Given the description of an element on the screen output the (x, y) to click on. 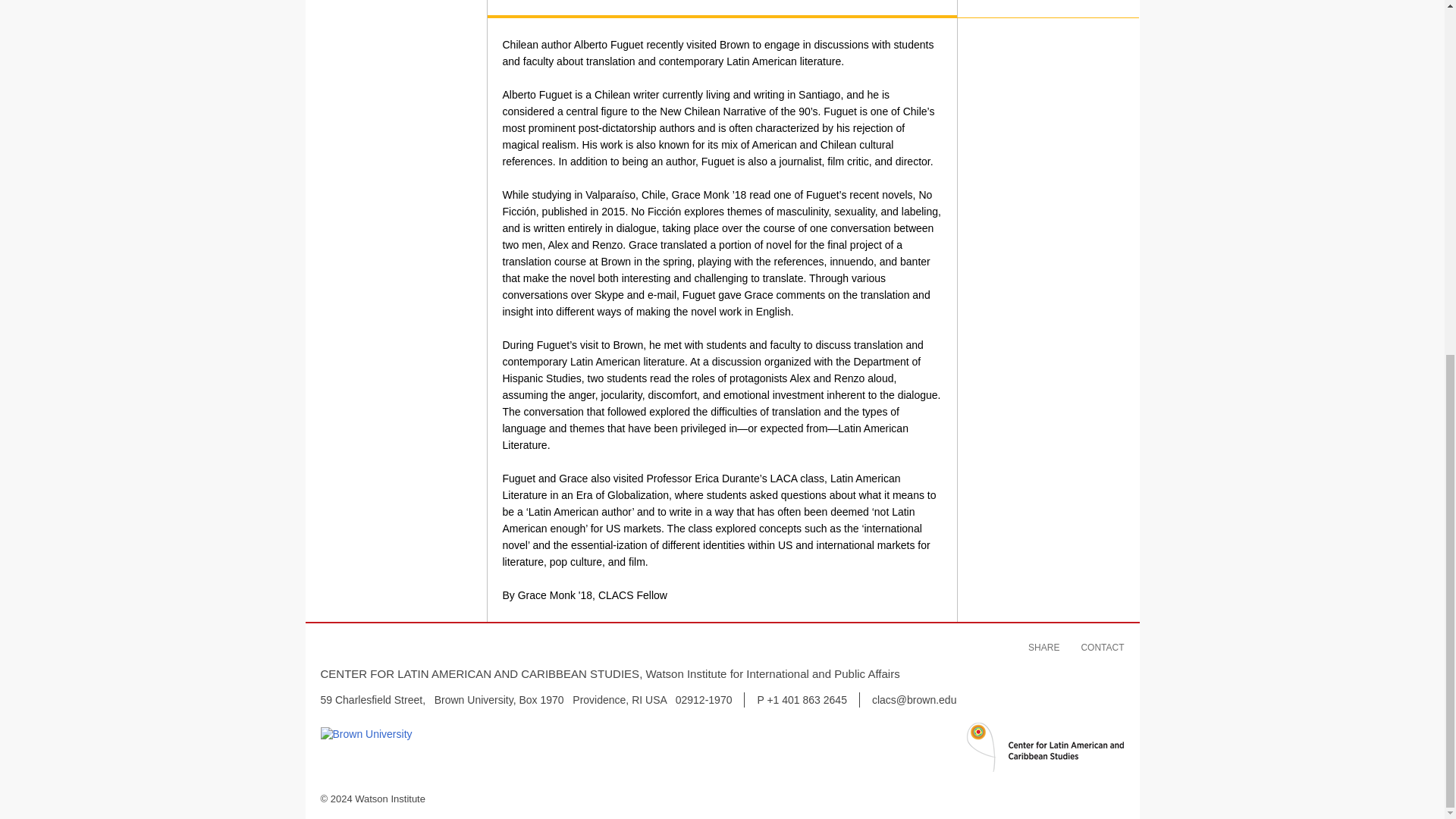
Brown University home (366, 734)
CLACS home (1043, 767)
